Given the description of an element on the screen output the (x, y) to click on. 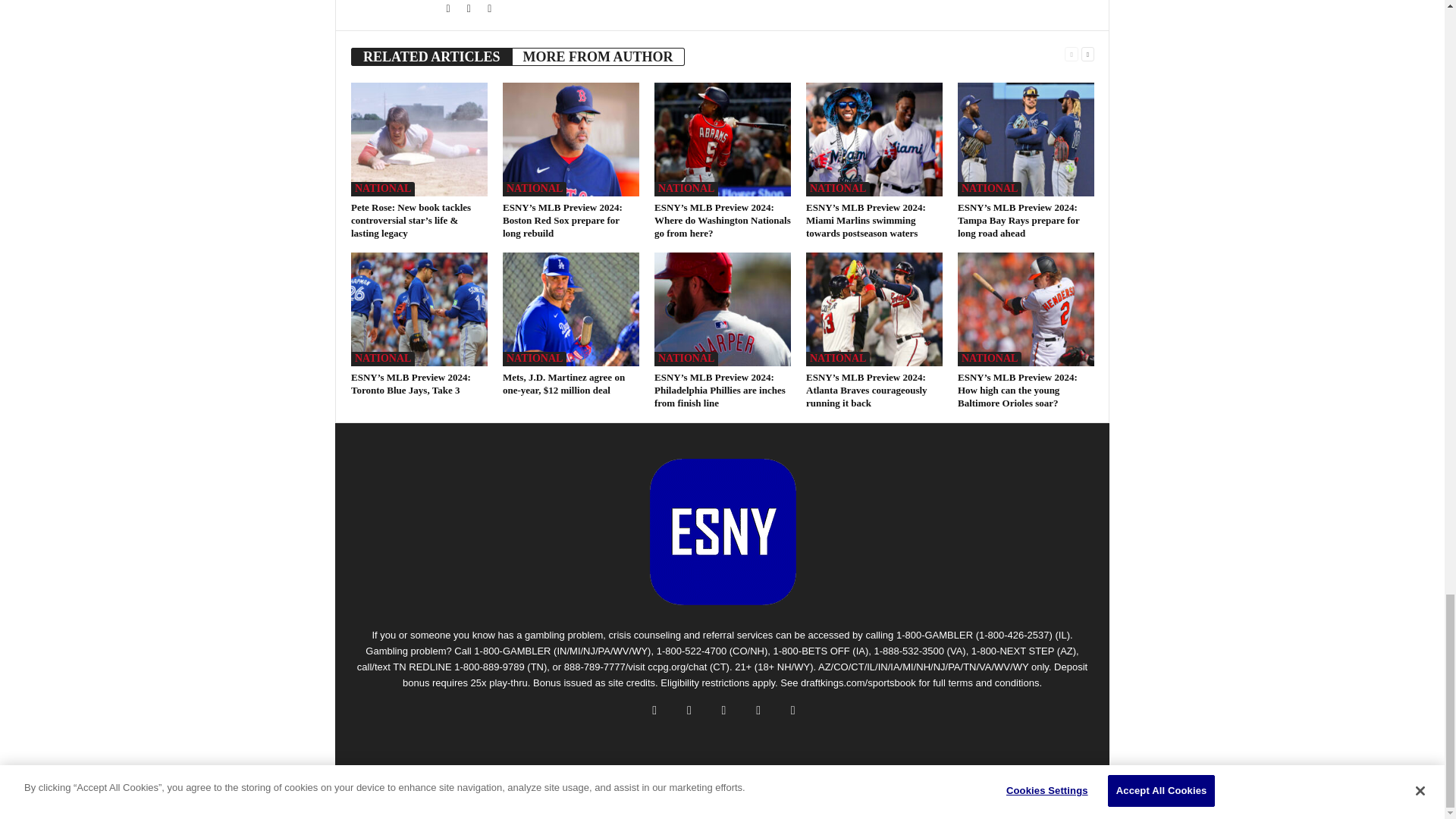
Facebook (449, 9)
Twitter (470, 9)
Instagram (489, 9)
